Given the description of an element on the screen output the (x, y) to click on. 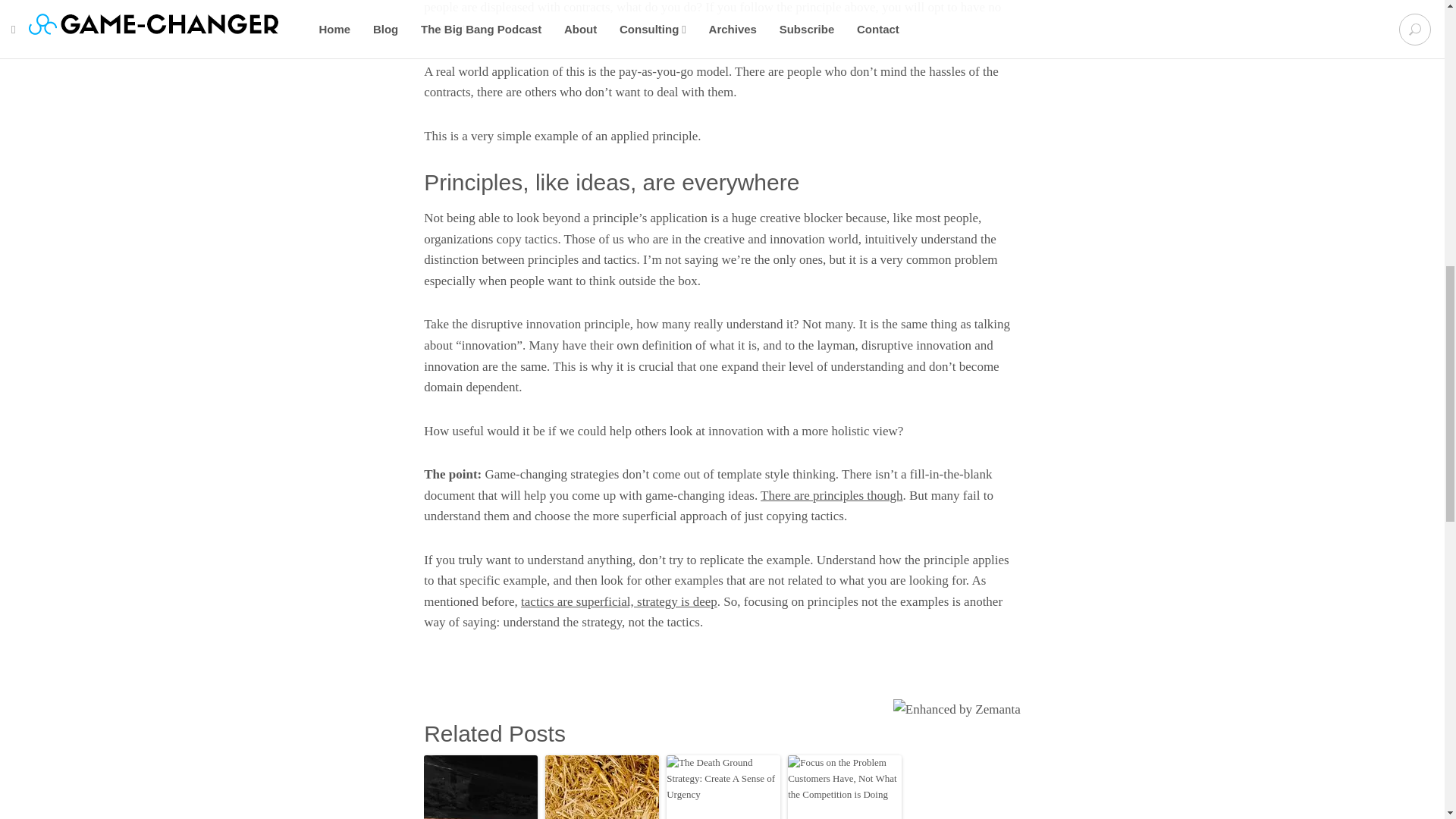
There are principles though (831, 495)
Tactics are superficial, strategy is deep (619, 601)
there are principles though (831, 495)
tactics are superficial, strategy is deep (619, 601)
